Given the description of an element on the screen output the (x, y) to click on. 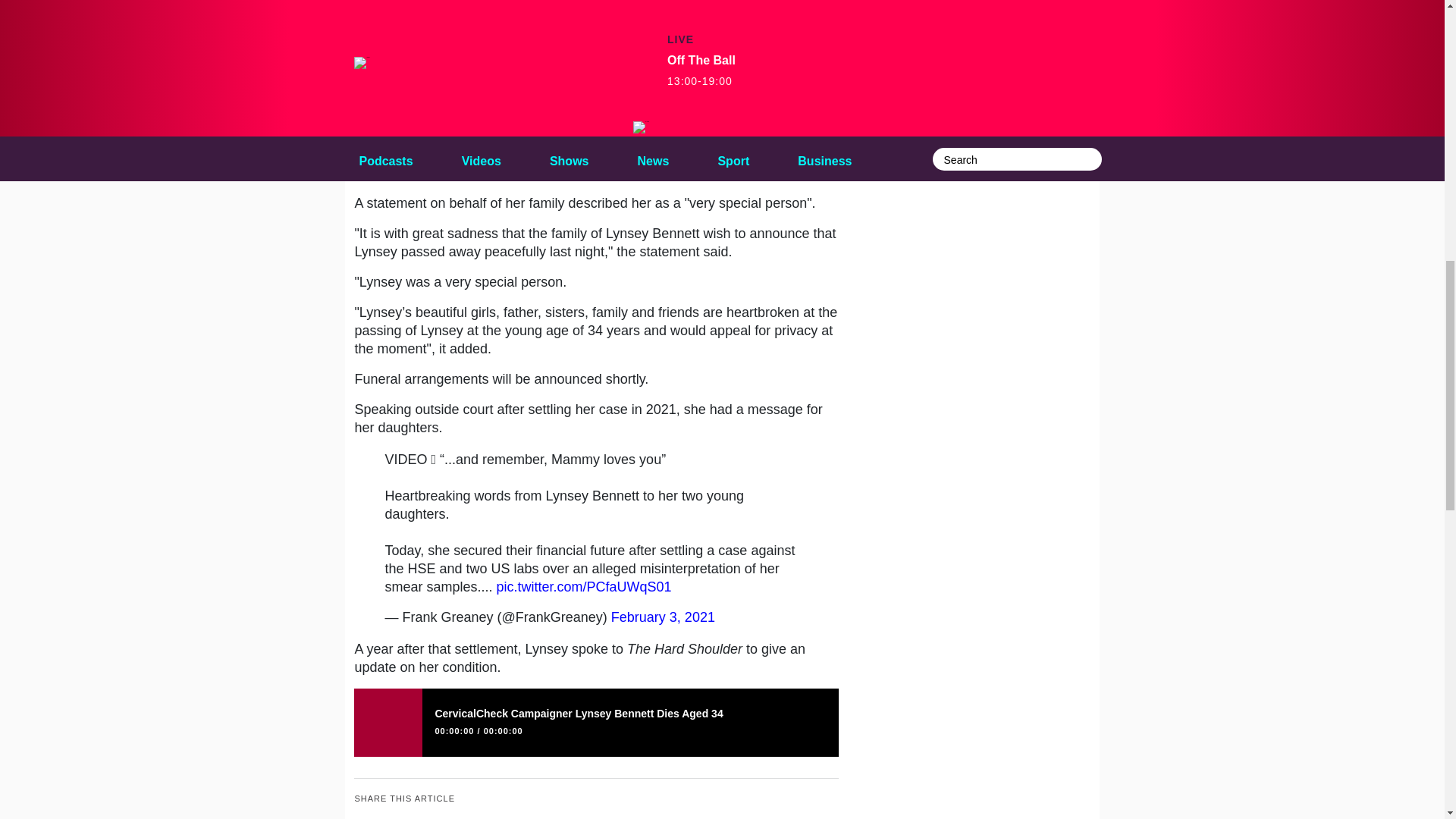
February 3, 2021 (662, 616)
ultimately settled for an undisclosed sum (515, 154)
